Given the description of an element on the screen output the (x, y) to click on. 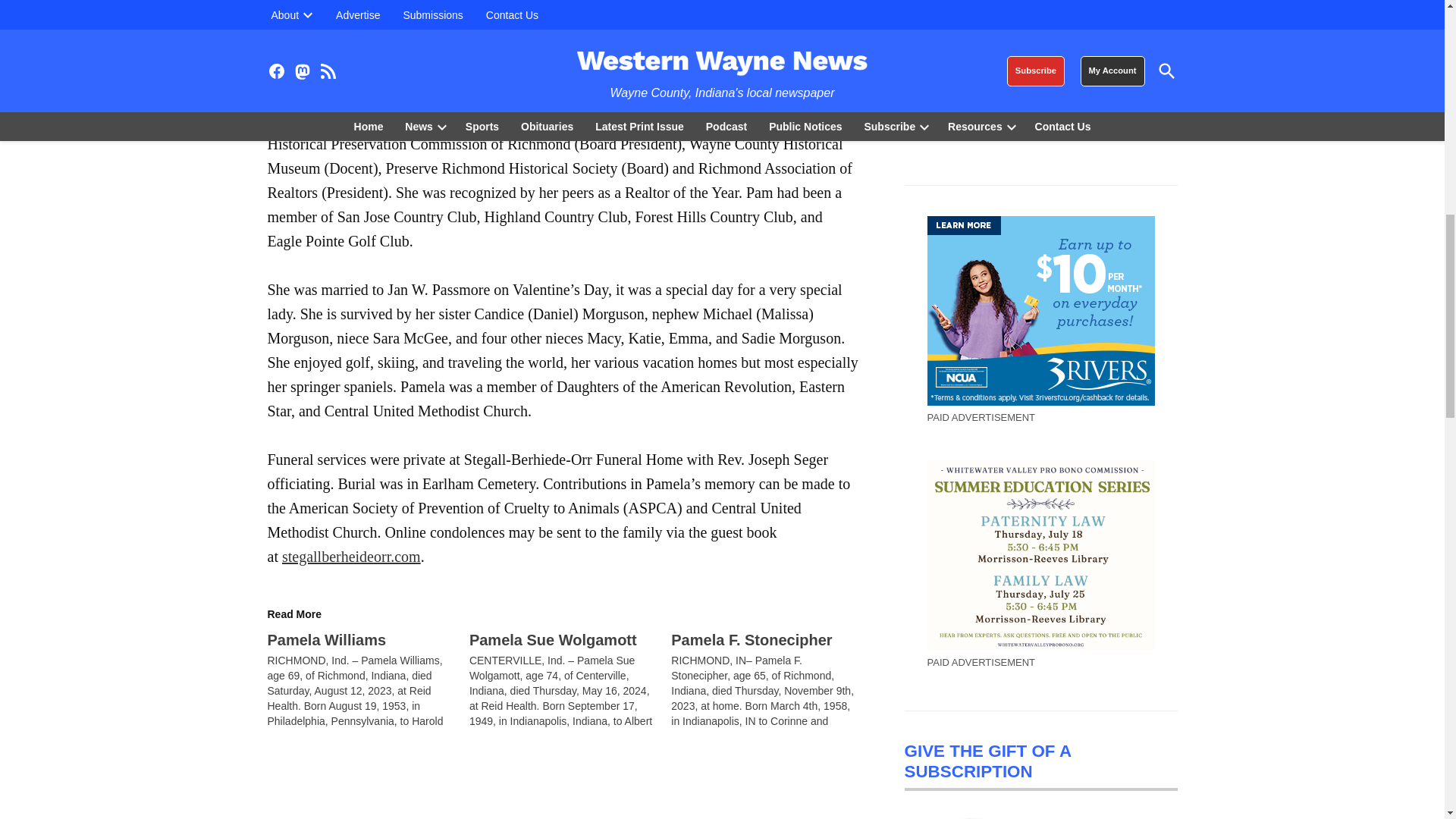
Pamela Williams (367, 679)
Pamela Williams (325, 639)
Pamela F. Stonecipher (751, 639)
Pamela F. Stonecipher (771, 679)
Pamela Sue Wolgamott (552, 639)
Pamela Sue Wolgamott (569, 679)
